Given the description of an element on the screen output the (x, y) to click on. 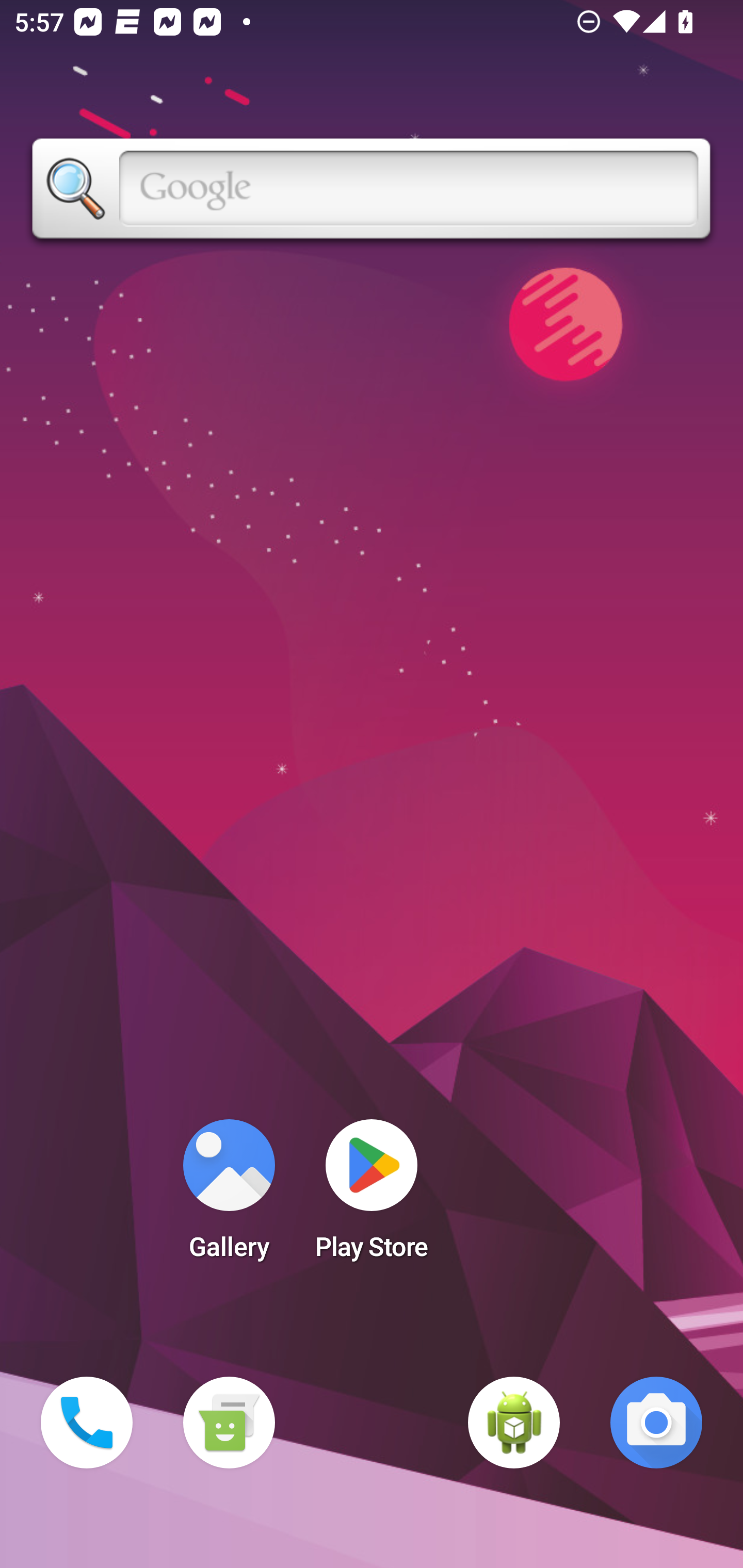
Gallery (228, 1195)
Play Store (371, 1195)
Phone (86, 1422)
Messaging (228, 1422)
WebView Browser Tester (513, 1422)
Camera (656, 1422)
